Given the description of an element on the screen output the (x, y) to click on. 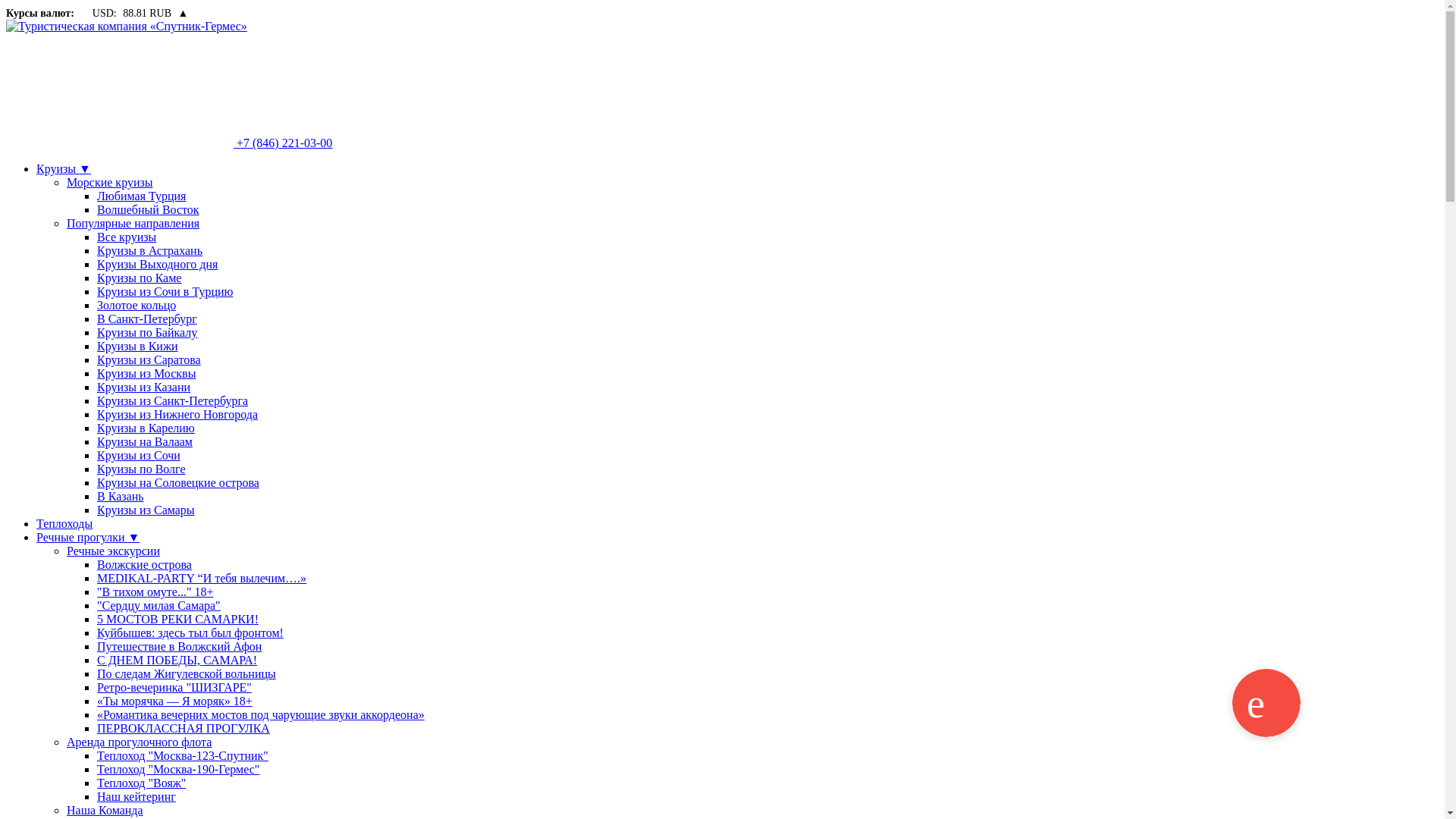
+7 (846) 221-03-00 Element type: text (169, 142)
